Given the description of an element on the screen output the (x, y) to click on. 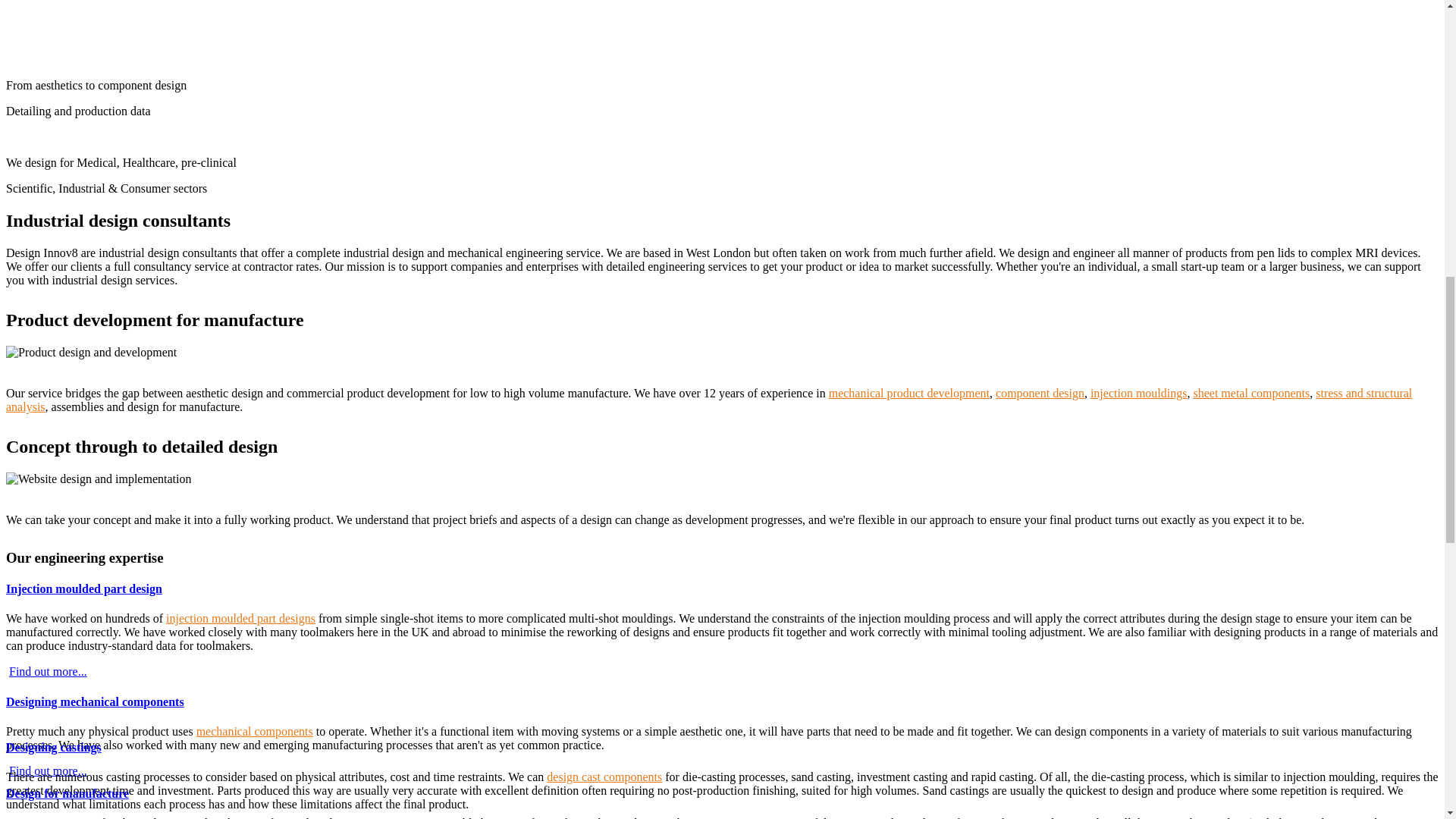
injection mouldings (1139, 392)
component design (1039, 392)
sheet metal components (1250, 392)
injection moulded part designs (240, 617)
mechanical product development (909, 392)
Injection moulded part design (83, 588)
stress and structural analysis (708, 399)
